Given the description of an element on the screen output the (x, y) to click on. 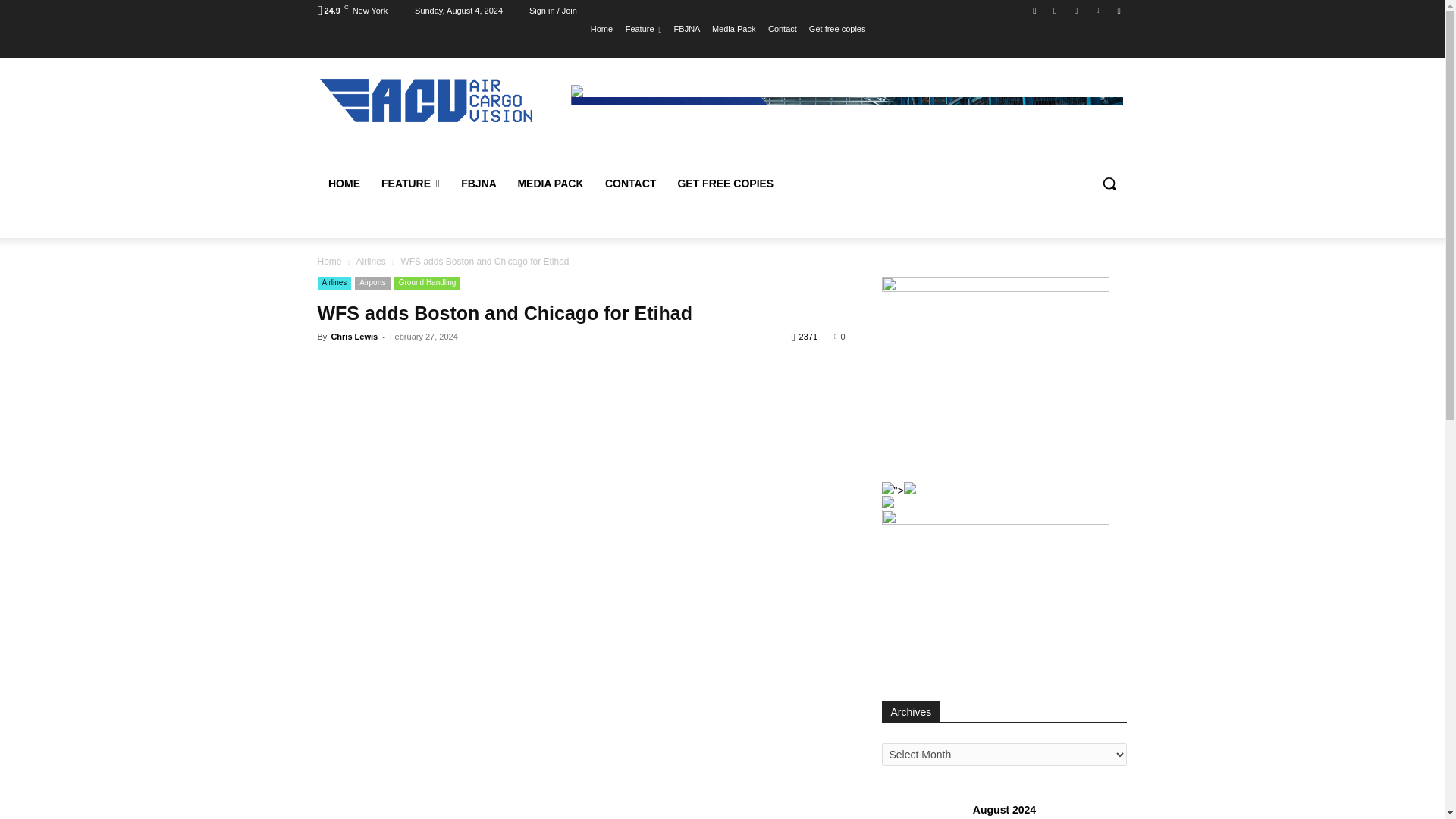
Get free copies (837, 28)
Contact (782, 28)
Vimeo (1097, 9)
Home (601, 28)
Twitter (1075, 9)
FBJNA (687, 28)
Youtube (1117, 9)
View all posts in Airlines (370, 261)
Media Pack (733, 28)
Instagram (1055, 9)
Feature (644, 28)
Facebook (1034, 9)
